Given the description of an element on the screen output the (x, y) to click on. 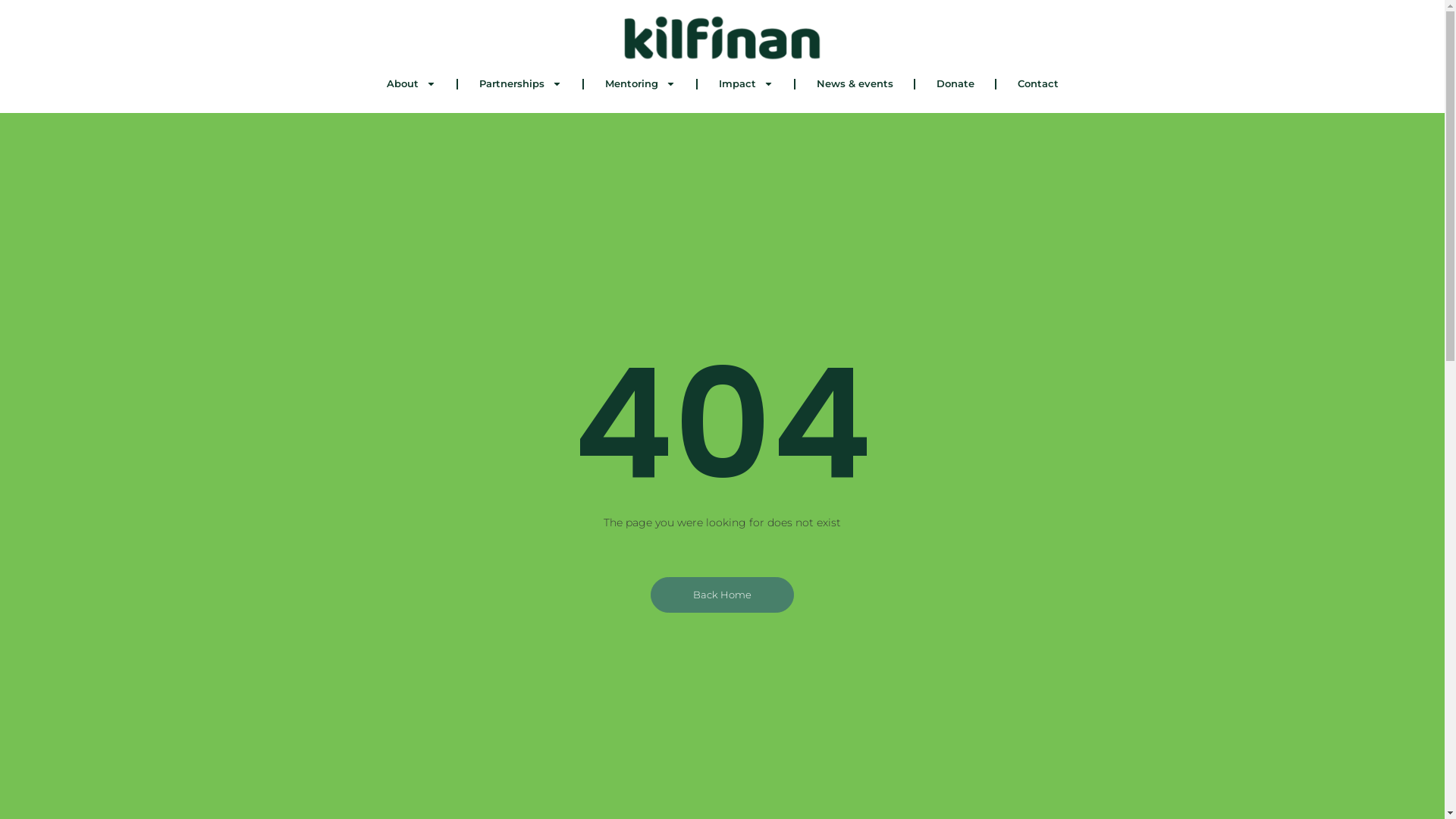
Donate Element type: text (954, 84)
Impact Element type: text (745, 84)
Back Home Element type: text (721, 594)
Partnerships Element type: text (520, 84)
Mentoring Element type: text (639, 84)
News & events Element type: text (853, 84)
About Element type: text (411, 84)
Contact Element type: text (1037, 84)
